Given the description of an element on the screen output the (x, y) to click on. 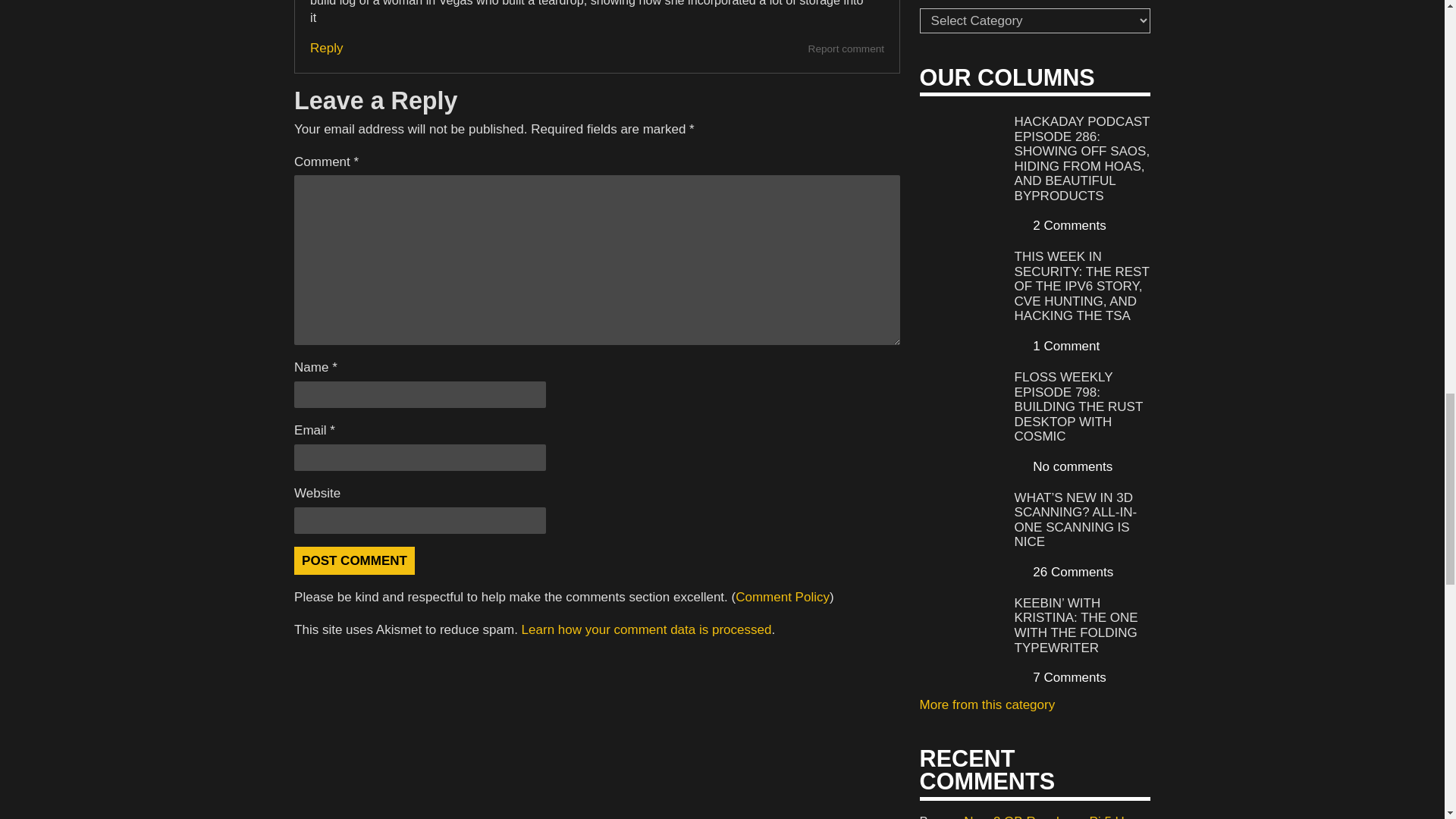
Post Comment (354, 560)
Reply (326, 47)
Report comment (845, 48)
